Given the description of an element on the screen output the (x, y) to click on. 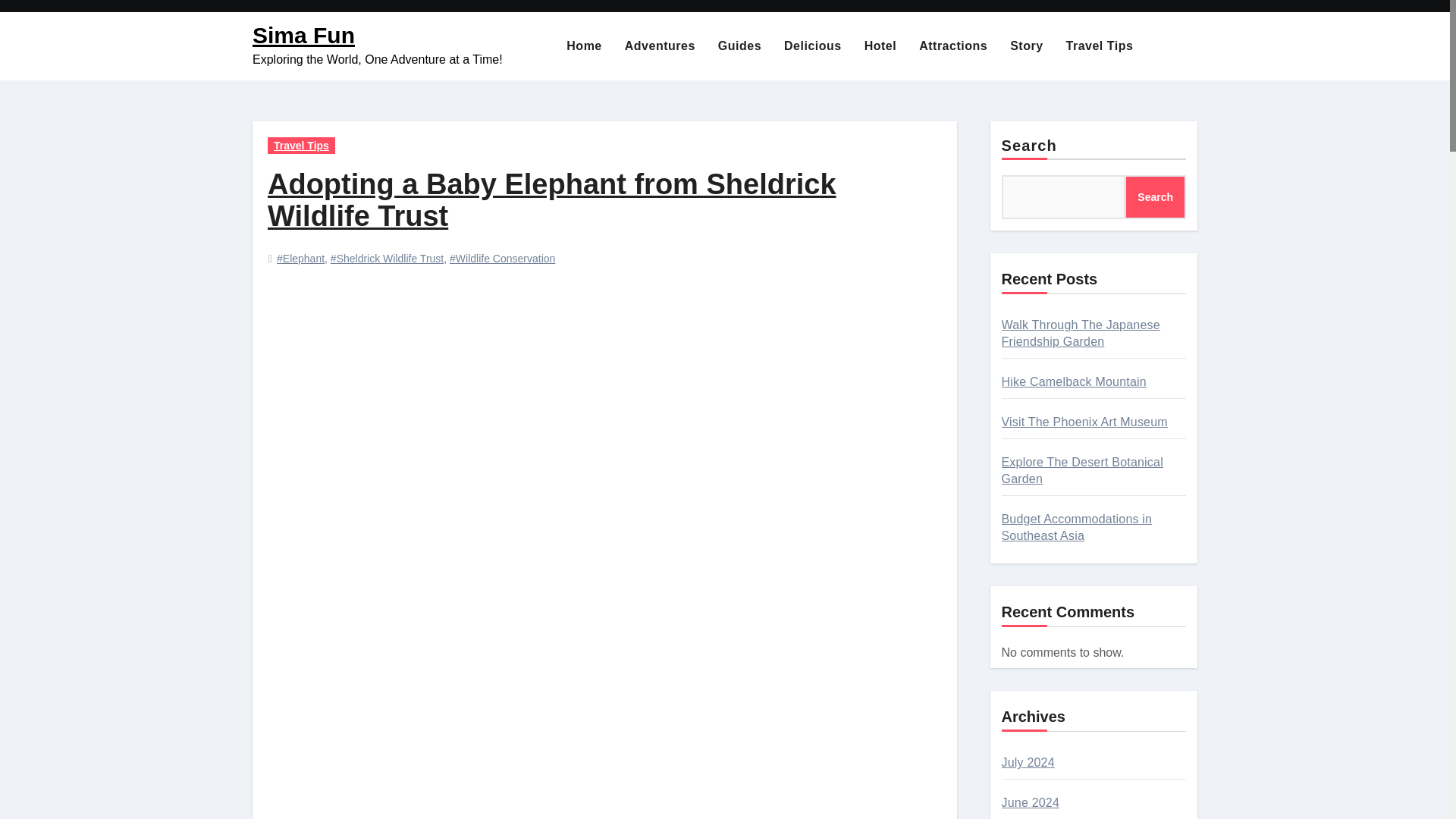
Hotel (880, 46)
Home (583, 46)
Story (1026, 46)
Delicious (813, 46)
Attractions (952, 46)
Guides (739, 46)
Attractions (952, 46)
Adventures (659, 46)
Sima Fun (303, 34)
